Given the description of an element on the screen output the (x, y) to click on. 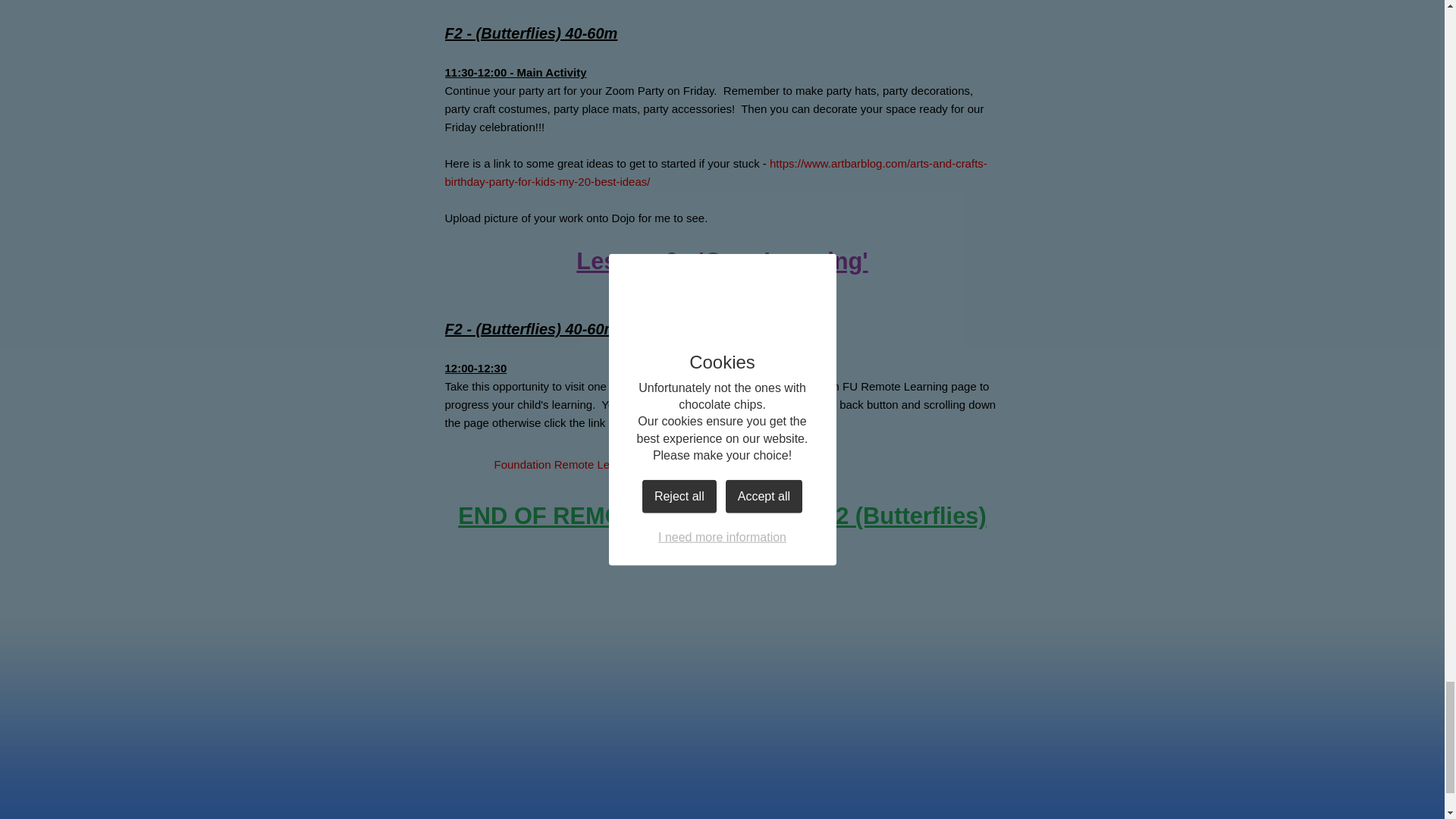
Foundation Remote Learning Page (557, 464)
